Given the description of an element on the screen output the (x, y) to click on. 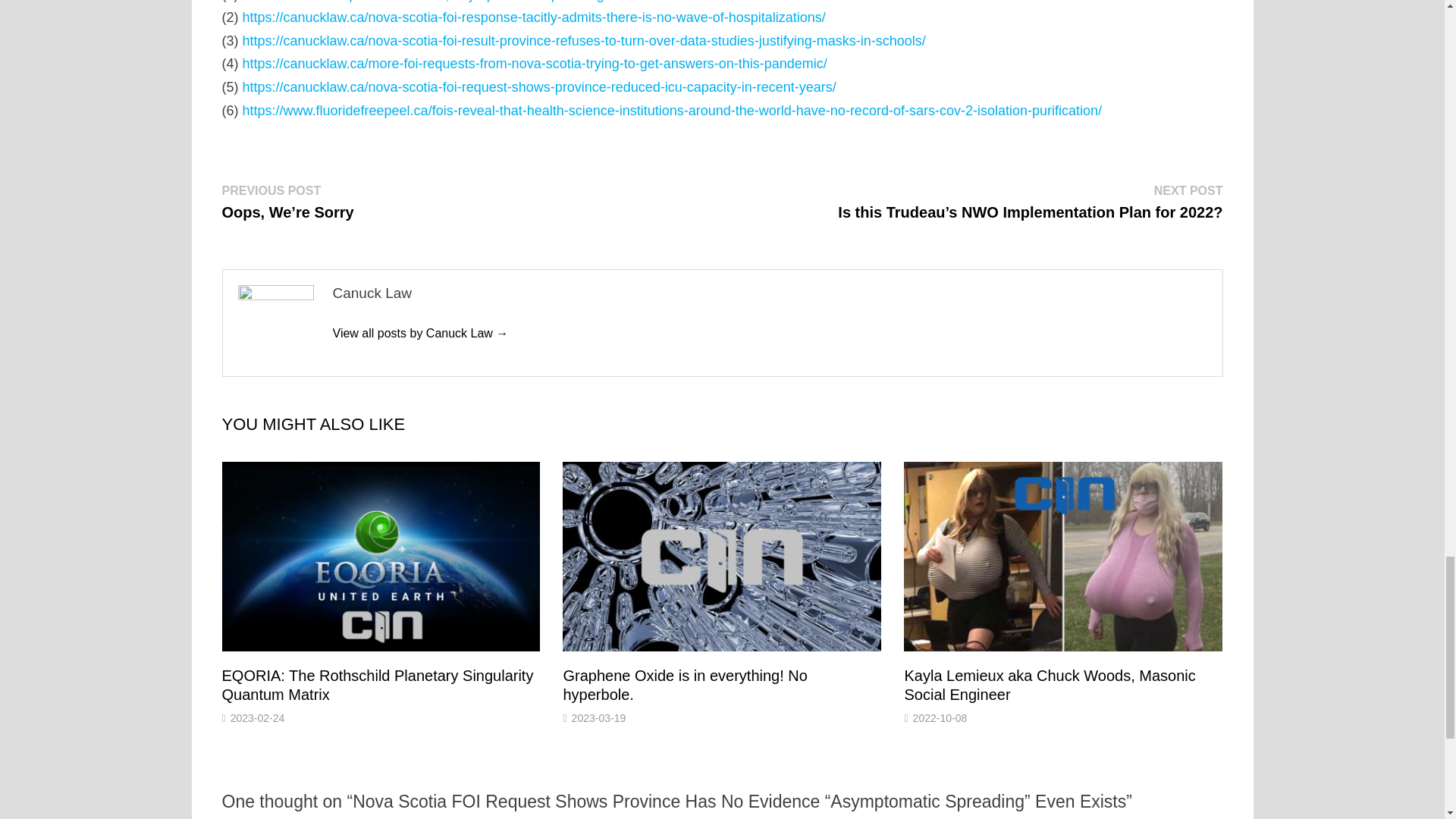
Kayla Lemieux aka Chuck Woods, Masonic Social Engineer (1049, 684)
Graphene Oxide is in everything! No hyperbole. (684, 684)
Canuck Law (419, 332)
EQORIA: The Rothschild Planetary Singularity Quantum Matrix (376, 684)
